Given the description of an element on the screen output the (x, y) to click on. 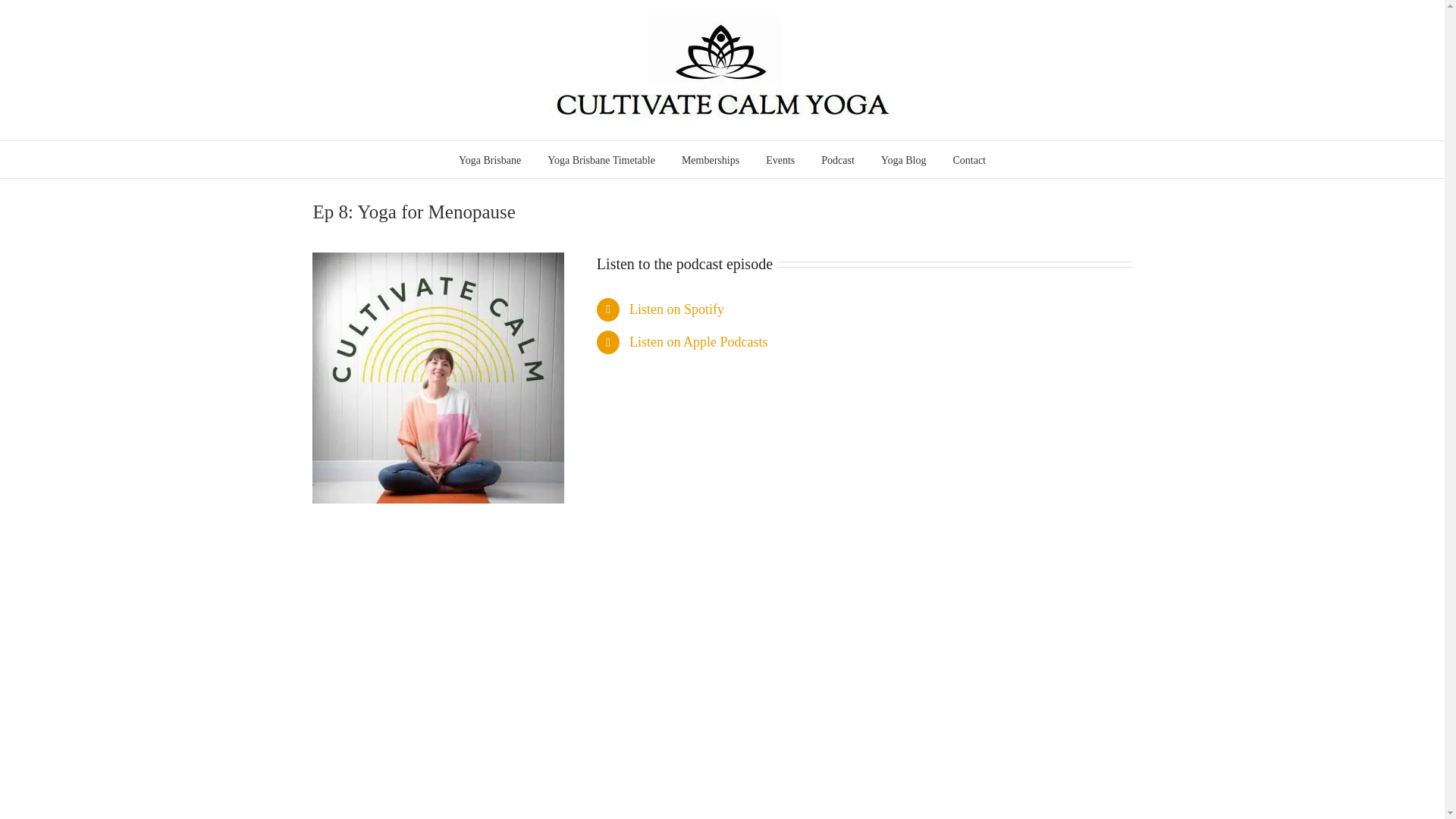
Yoga Brisbane (489, 159)
Yoga Brisbane Timetable (601, 159)
Contact (968, 159)
Podcast (837, 159)
Listen on Spotify (675, 309)
Yoga Blog (903, 159)
Listen on Apple Podcasts (698, 341)
Memberships (710, 159)
